Given the description of an element on the screen output the (x, y) to click on. 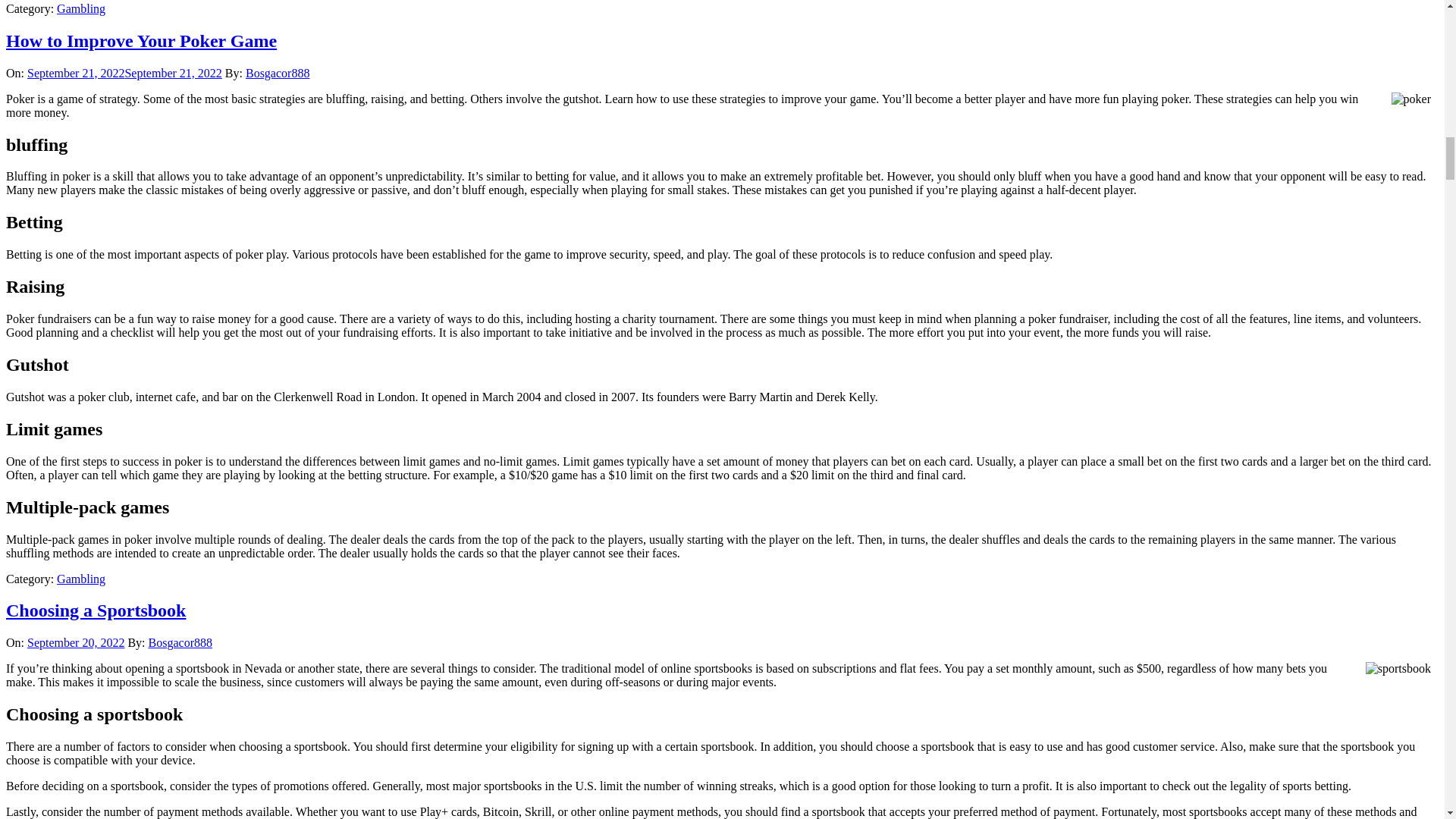
How to Improve Your Poker Game (140, 40)
Gambling (80, 578)
September 21, 2022September 21, 2022 (124, 72)
Bosgacor888 (277, 72)
Gambling (80, 8)
Bosgacor888 (180, 642)
Choosing a Sportsbook (95, 609)
September 20, 2022 (75, 642)
